Given the description of an element on the screen output the (x, y) to click on. 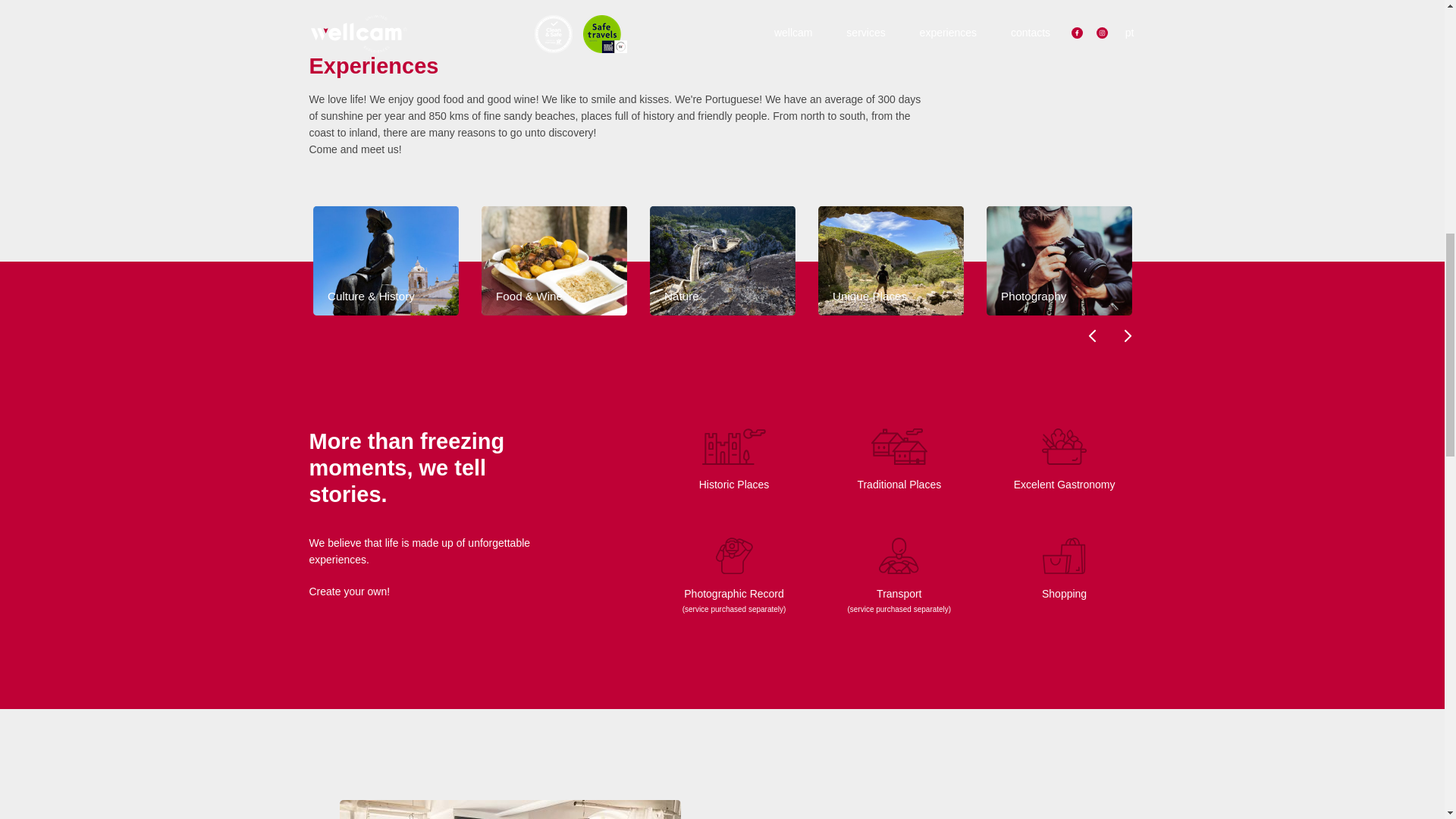
Nature (726, 306)
Photography (1063, 306)
Unique Places (894, 306)
